Given the description of an element on the screen output the (x, y) to click on. 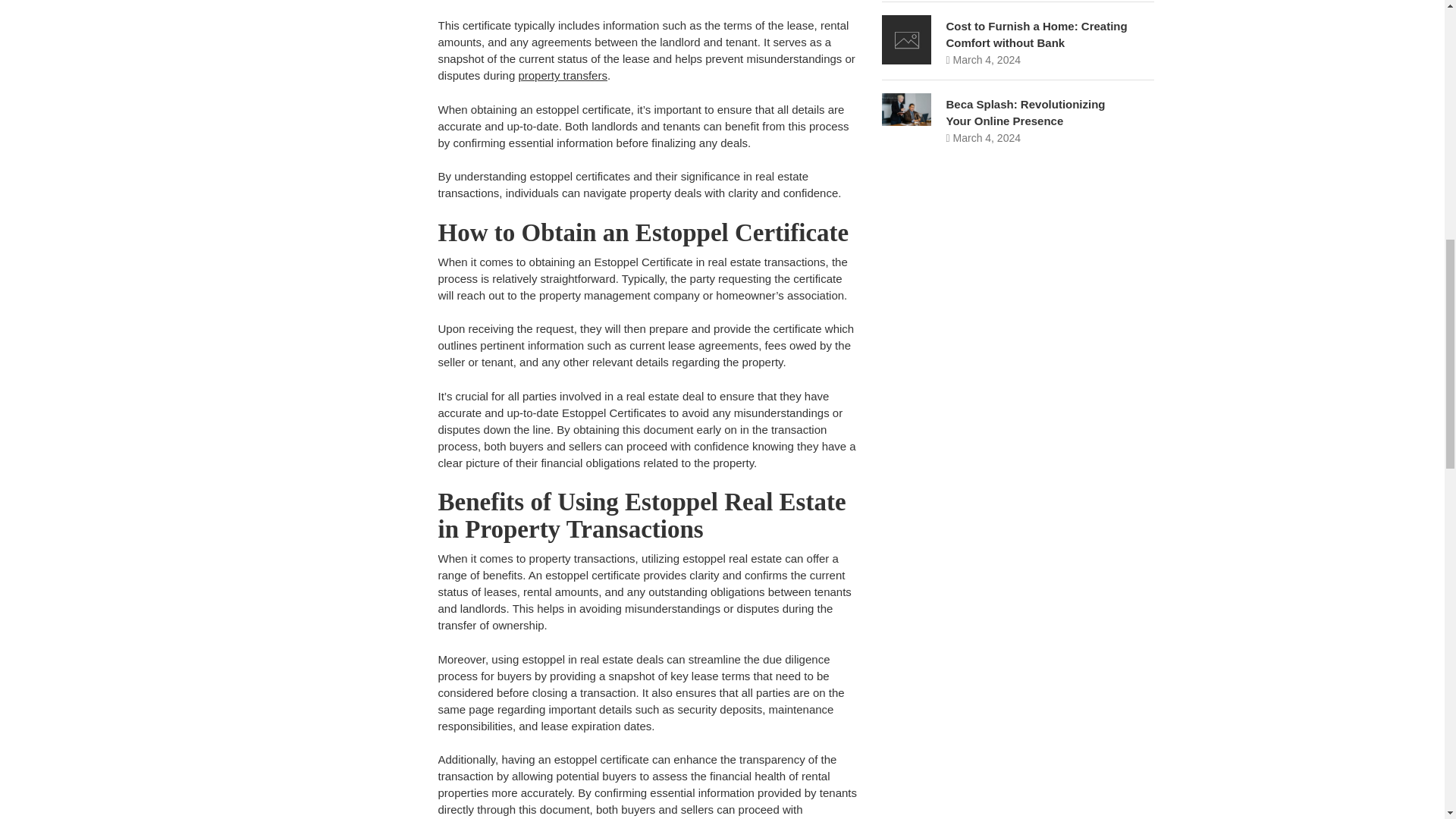
Cost to Furnish a Home: Creating Comfort without Bank (1036, 34)
property transfers (562, 74)
Beca Splash: Revolutionizing Your Online Presence (1025, 112)
Beca Splash: Revolutionizing Your Online Presence (1025, 112)
Cost to Furnish a Home: Creating Comfort without Bank (1036, 34)
